Given the description of an element on the screen output the (x, y) to click on. 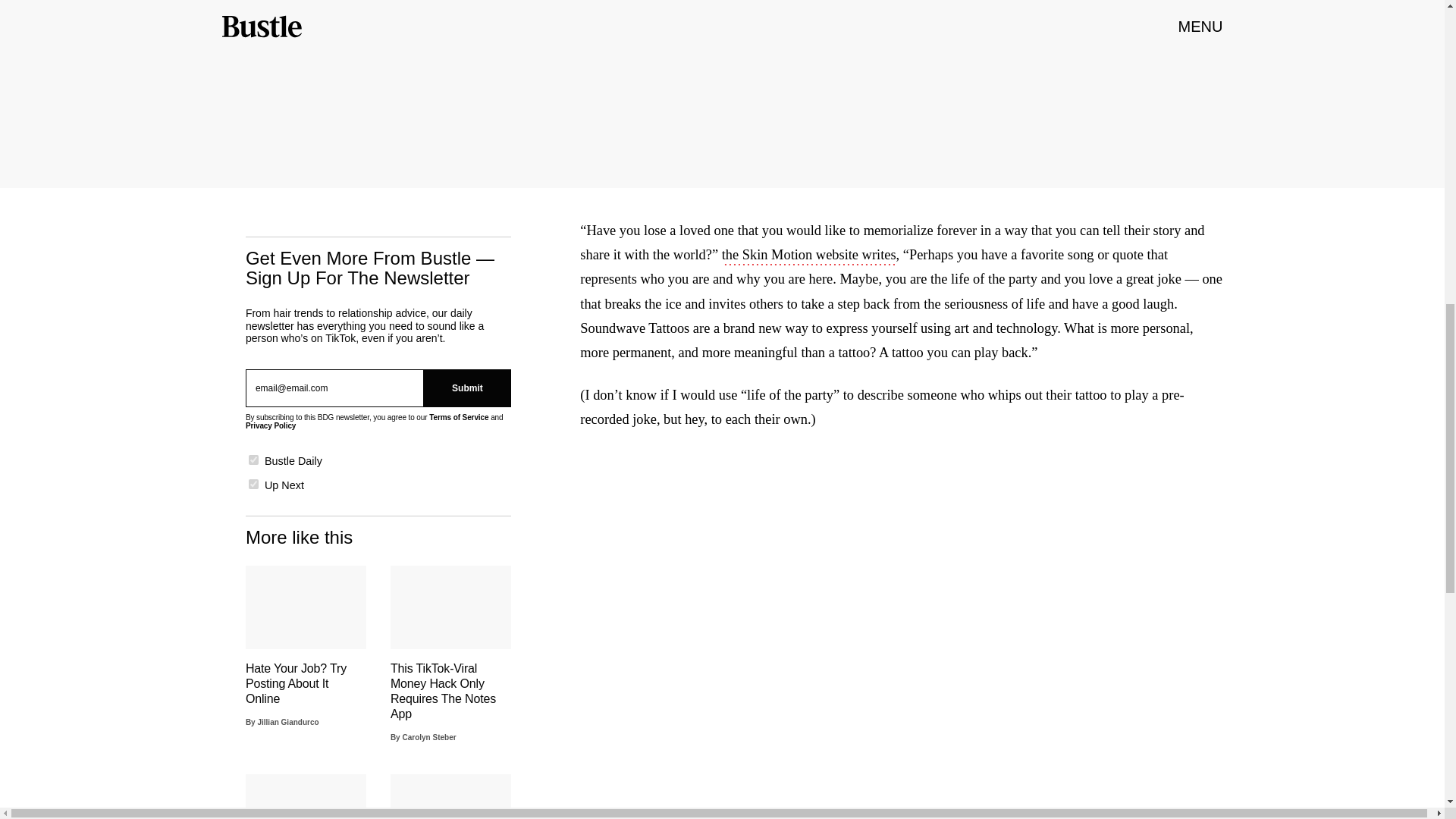
the Skin Motion website writes (809, 256)
Submit (467, 388)
Privacy Policy (270, 425)
Terms of Service (458, 417)
